Given the description of an element on the screen output the (x, y) to click on. 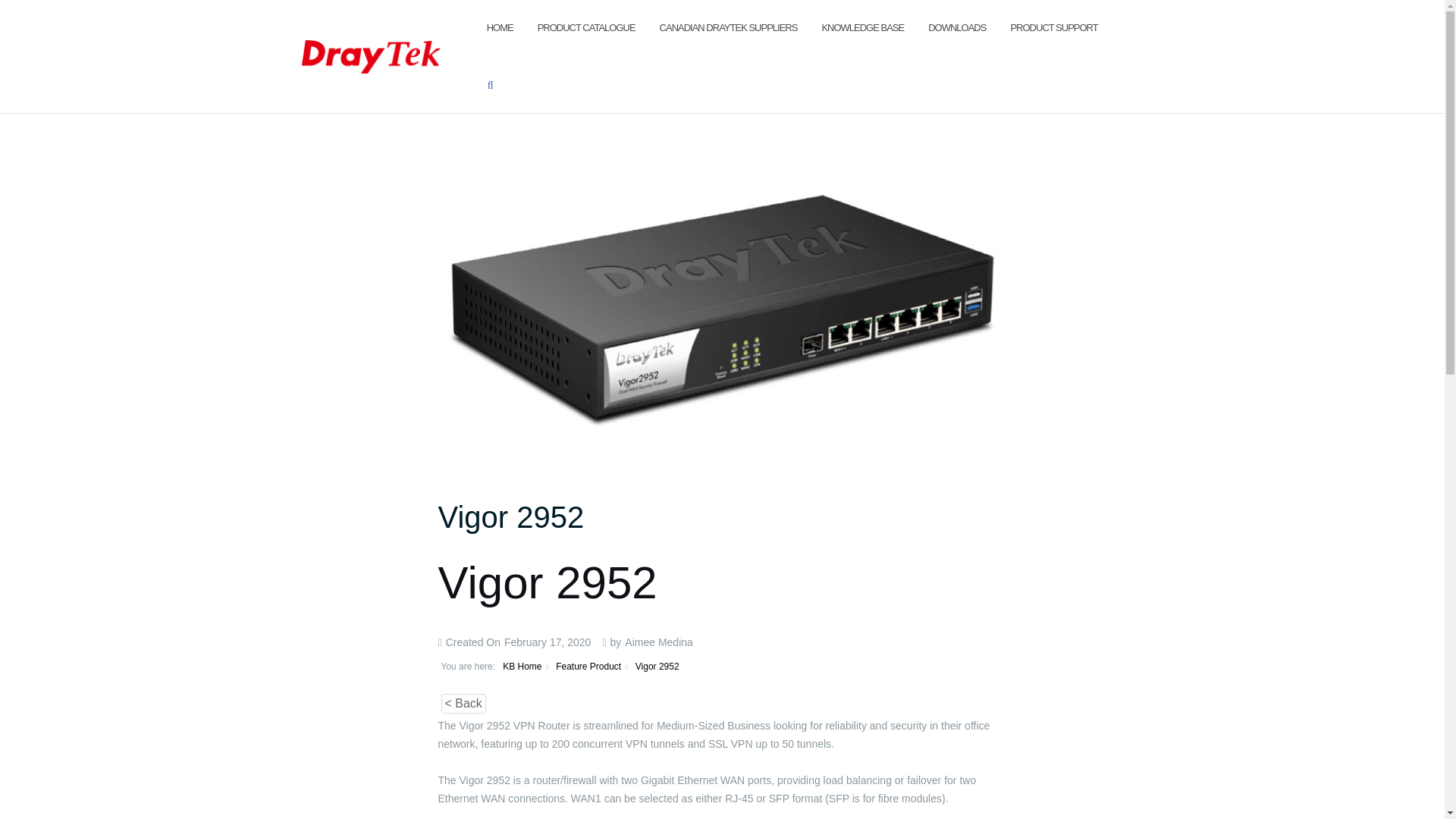
CANADIAN DRAYTEK SUPPLIERS (728, 28)
KNOWLEDGE BASE (862, 28)
Feature Product (588, 665)
Knowledge Base (862, 28)
DOWNLOADS (956, 28)
PRODUCT SUPPORT (1053, 28)
Home (499, 28)
PRODUCT CATALOGUE (585, 28)
Downloads (956, 28)
KB Home (521, 665)
HOME (499, 28)
Product Catalogue (585, 28)
Product Support (1053, 28)
Canadian DrayTek Suppliers (728, 28)
Vigor 2952 (511, 516)
